Given the description of an element on the screen output the (x, y) to click on. 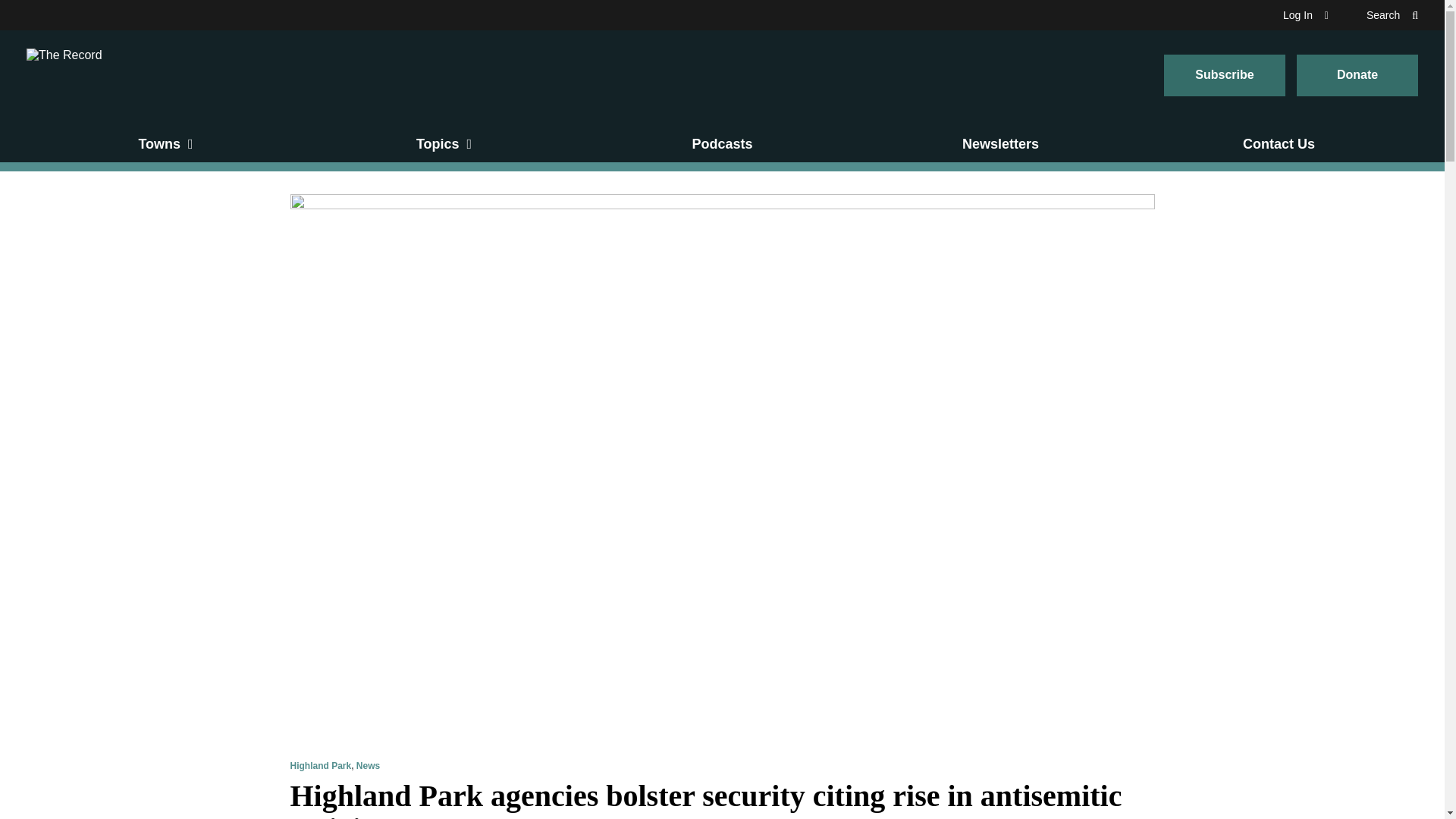
Log In (1304, 15)
Topics (443, 144)
Newsletters (1000, 144)
Podcasts (721, 144)
Donate (1357, 75)
Highland Park (319, 765)
Subscribe (1224, 75)
Contact Us (1278, 144)
Towns (165, 144)
The Record (63, 74)
News (368, 765)
